Given the description of an element on the screen output the (x, y) to click on. 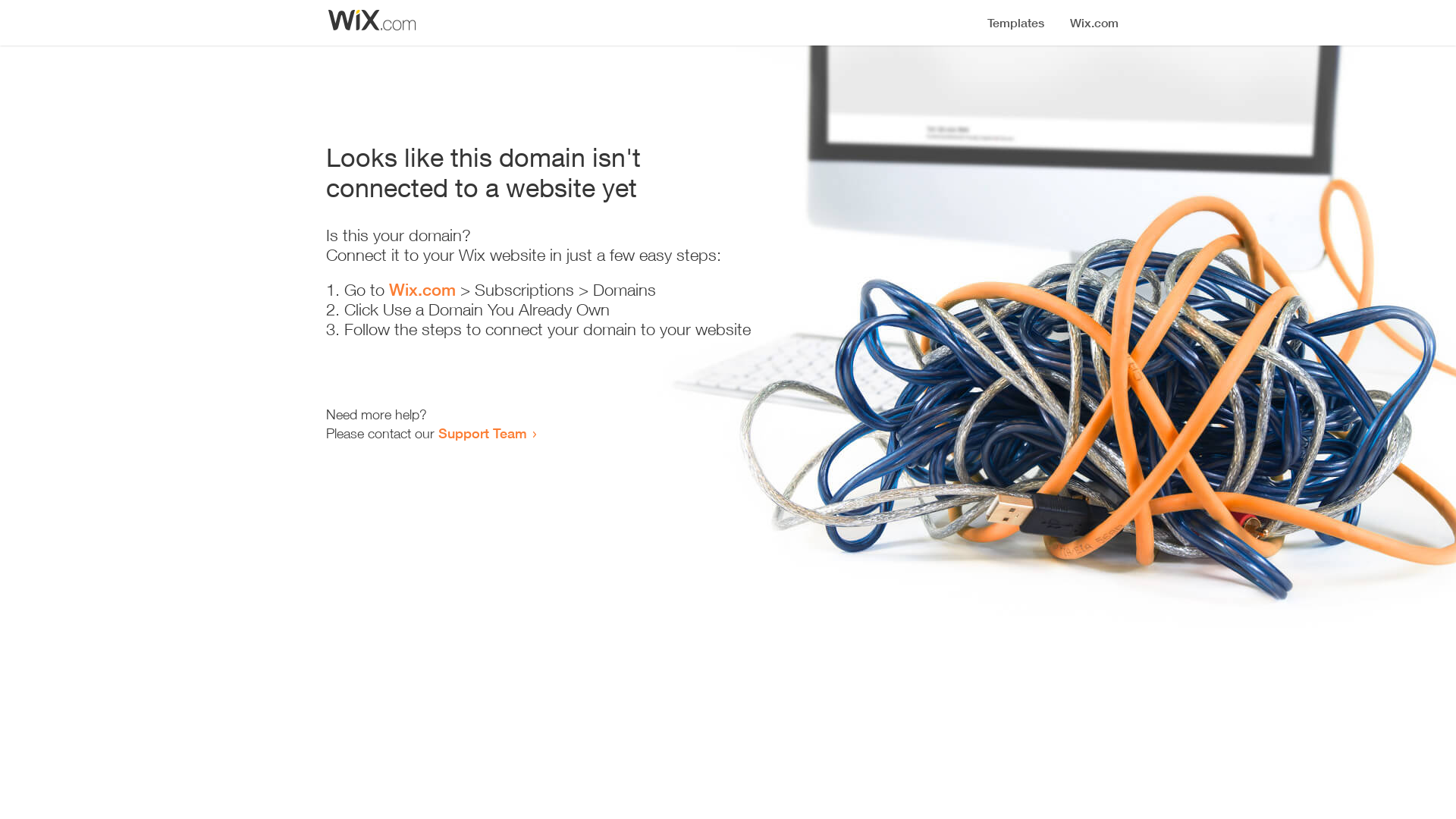
Support Team Element type: text (482, 432)
Wix.com Element type: text (422, 289)
